Given the description of an element on the screen output the (x, y) to click on. 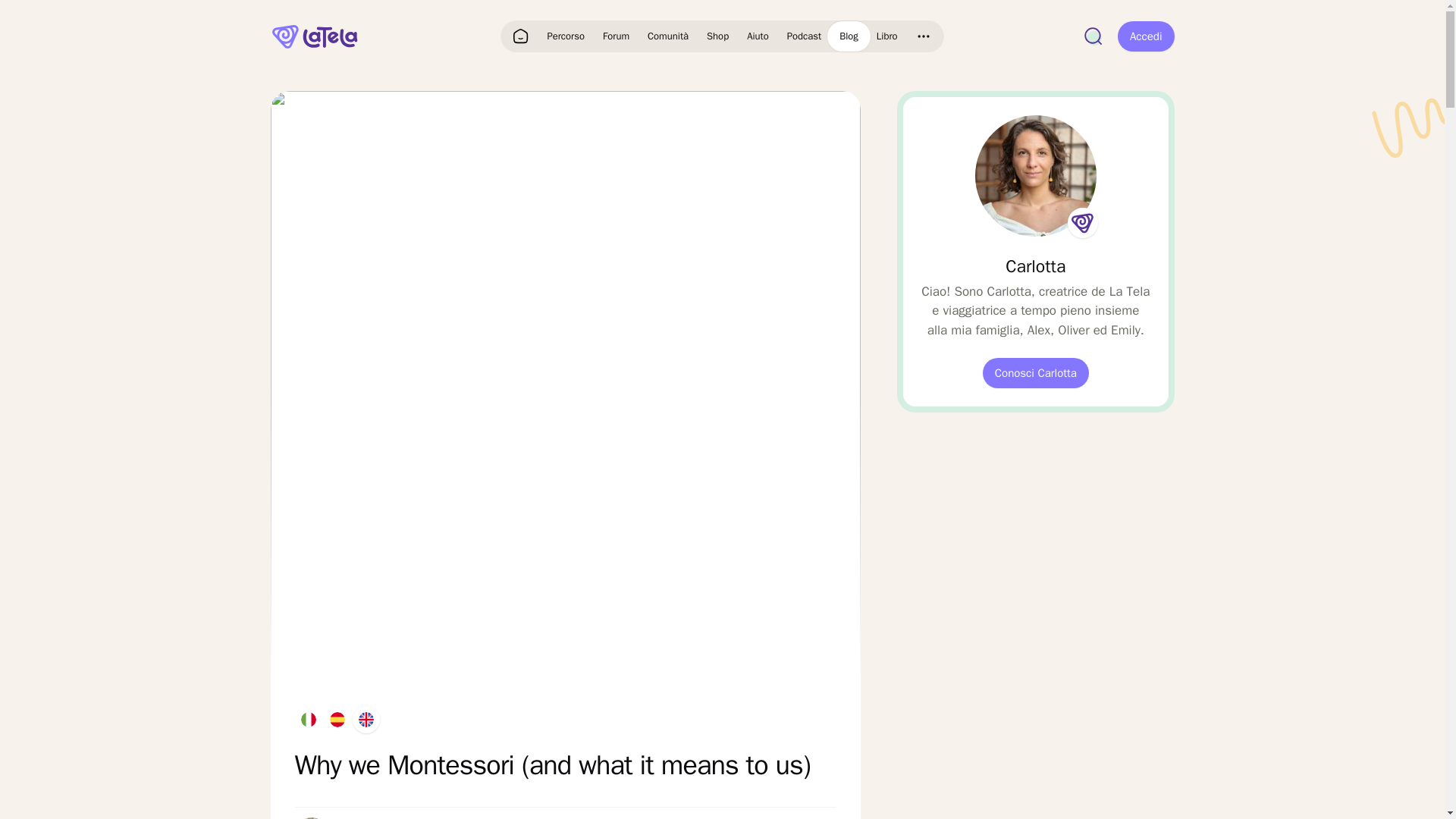
Libro (887, 36)
Podcast (803, 36)
Blog (848, 36)
Aiuto (757, 36)
Percorso (565, 36)
Accedi (1146, 36)
Shop (717, 36)
Forum (616, 36)
